Given the description of an element on the screen output the (x, y) to click on. 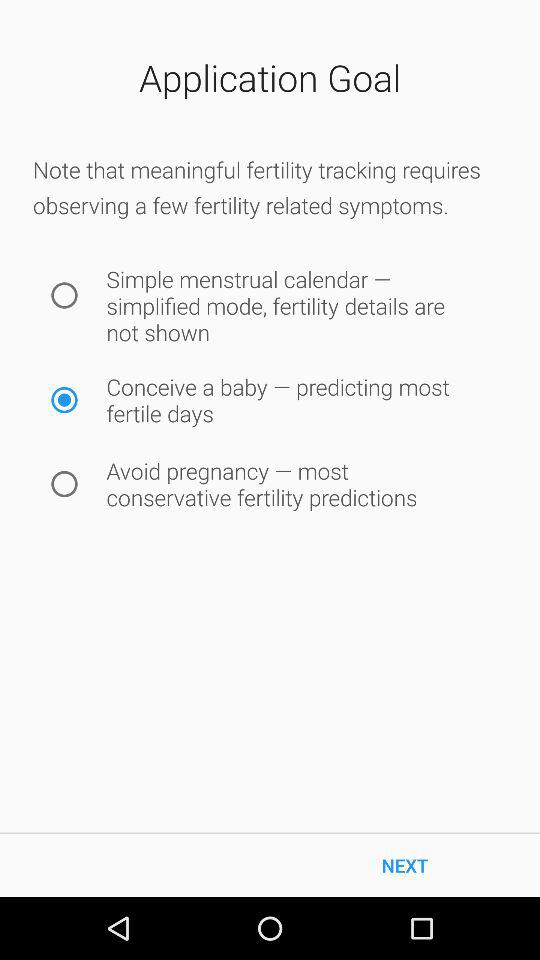
turn on the next (405, 864)
